Given the description of an element on the screen output the (x, y) to click on. 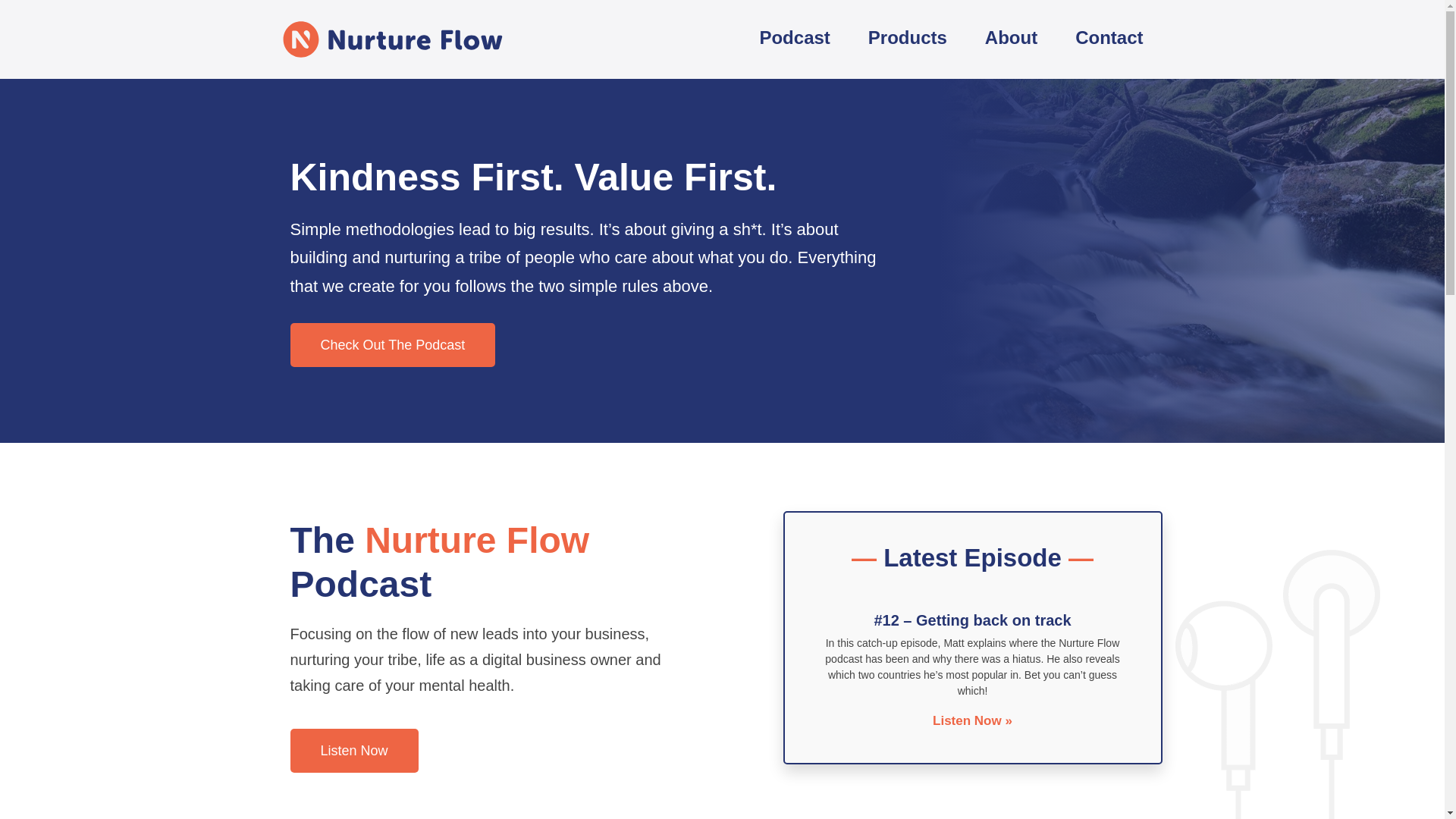
Podcast (793, 39)
Check Out The Podcast (392, 344)
Contact (1109, 39)
Listen Now (353, 750)
Products (907, 39)
About (1011, 39)
